Given the description of an element on the screen output the (x, y) to click on. 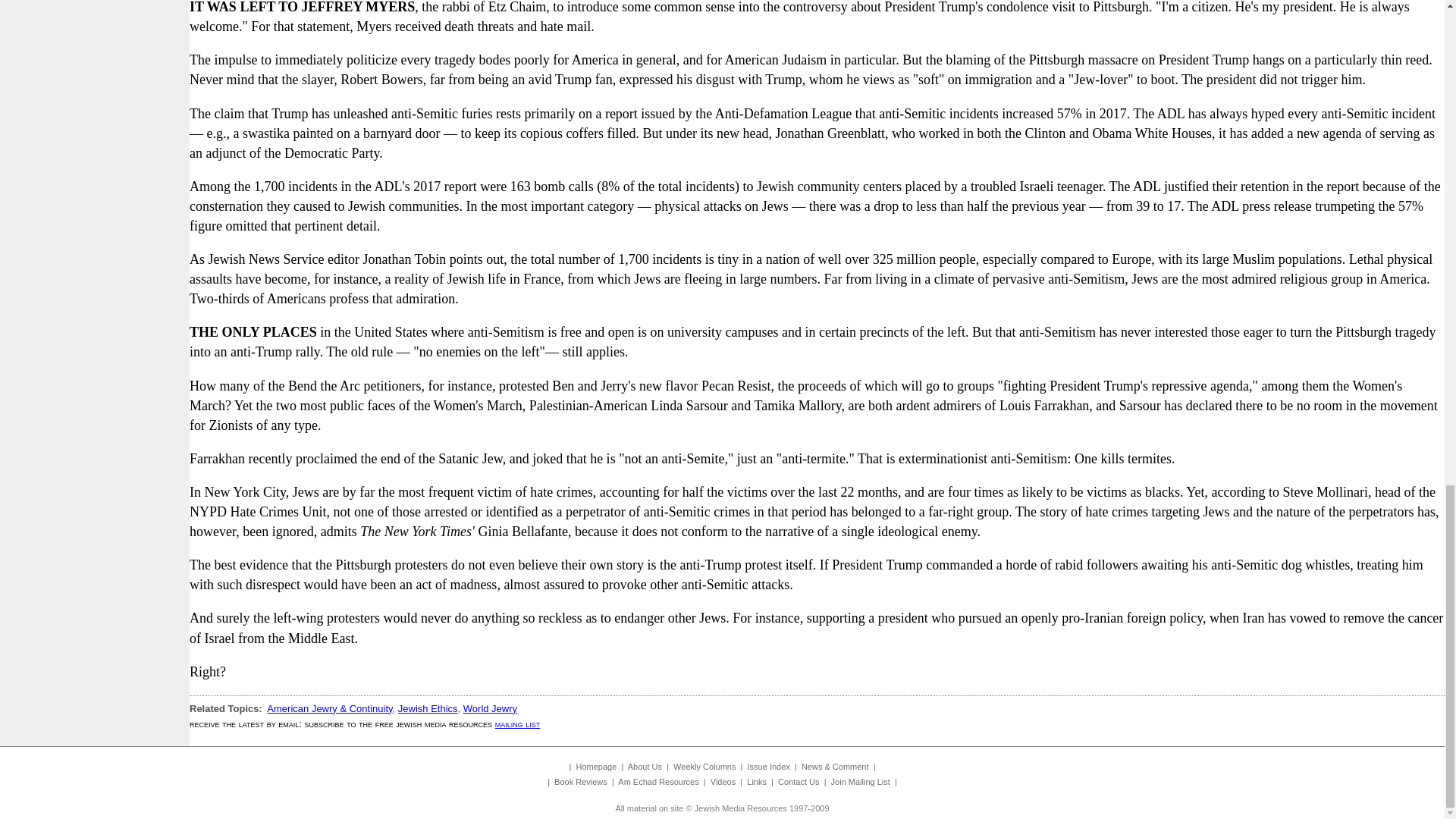
World Jewry (489, 708)
Join Mailing List (860, 781)
Links (756, 781)
Weekly Columns (703, 766)
mailing list (517, 723)
Am Echad Resources (657, 781)
About Us (644, 766)
Videos (722, 781)
Contact Us (797, 781)
Issue Index (769, 766)
